Given the description of an element on the screen output the (x, y) to click on. 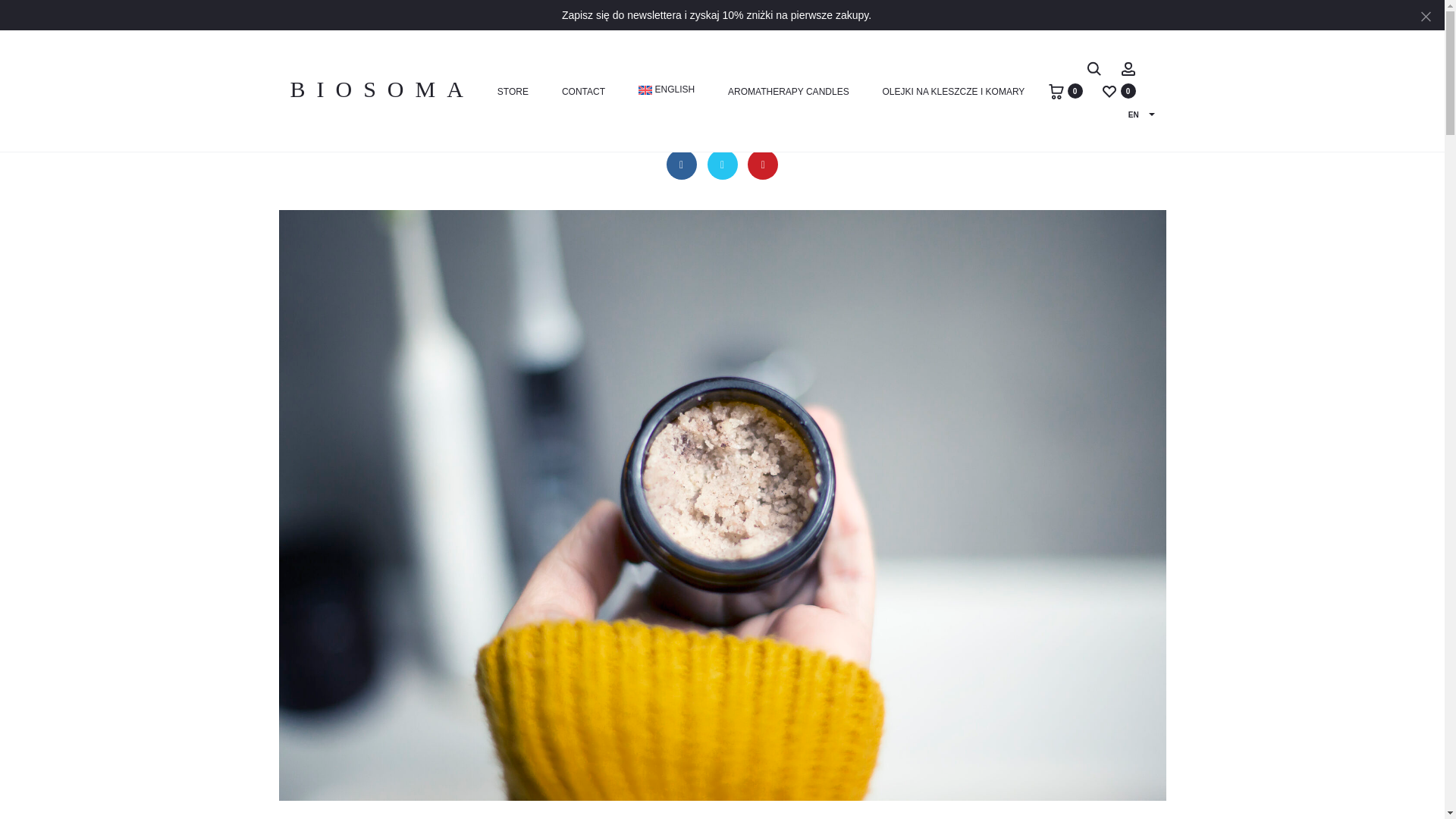
CONTACT (583, 92)
English (666, 89)
STORE (512, 92)
ENGLISH (666, 89)
OLEJKI NA KLESZCZE I KOMARY (953, 92)
Search (1093, 68)
AROMATHERAPY CANDLES (788, 92)
BIOSOMA (381, 87)
